Given the description of an element on the screen output the (x, y) to click on. 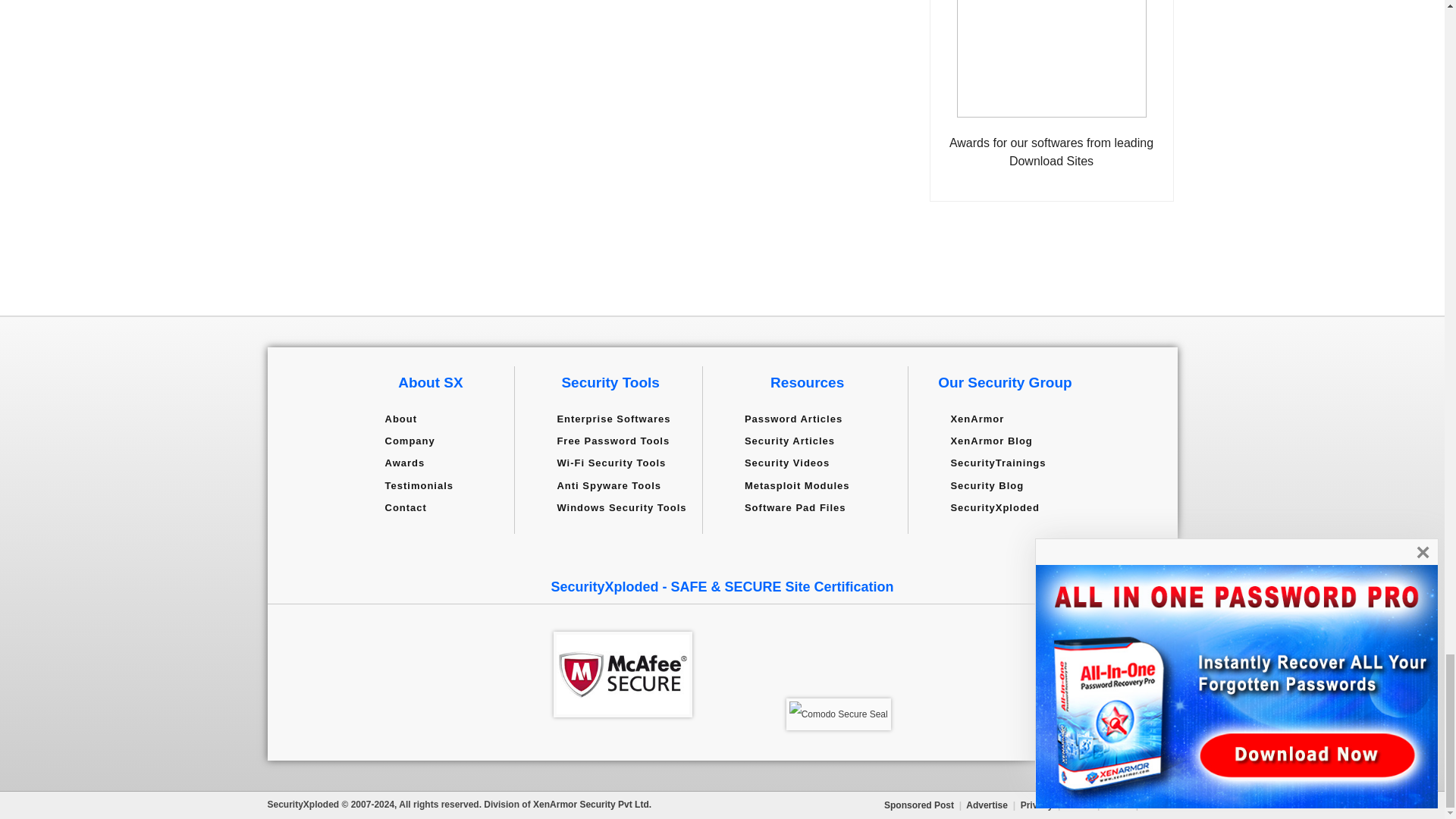
Comodo Secure Seal (838, 714)
McAfee Site Advisor - SAFE Rating (623, 674)
